Given the description of an element on the screen output the (x, y) to click on. 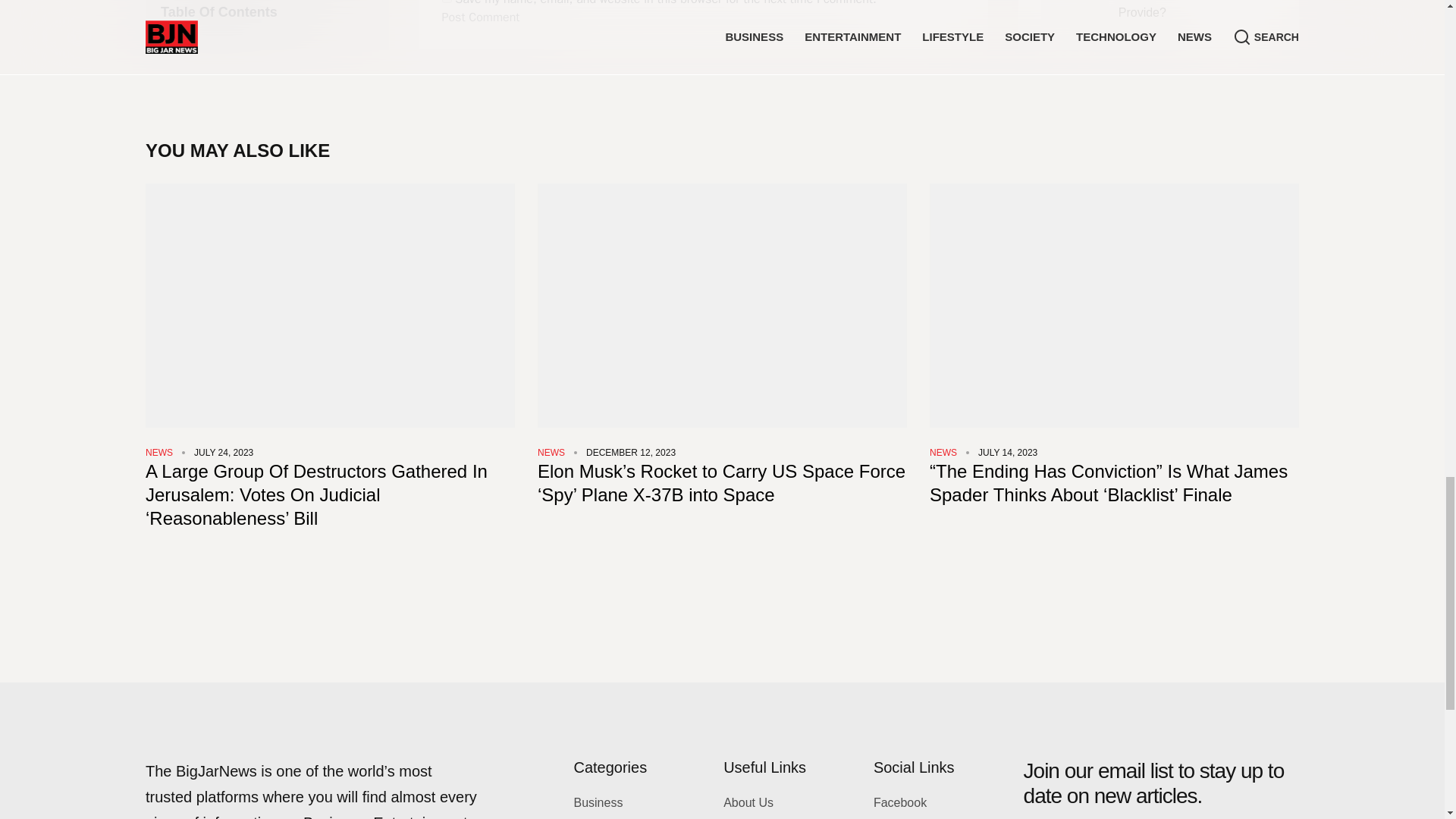
Post Comment (480, 17)
News (159, 452)
News (550, 452)
News (943, 452)
